Given the description of an element on the screen output the (x, y) to click on. 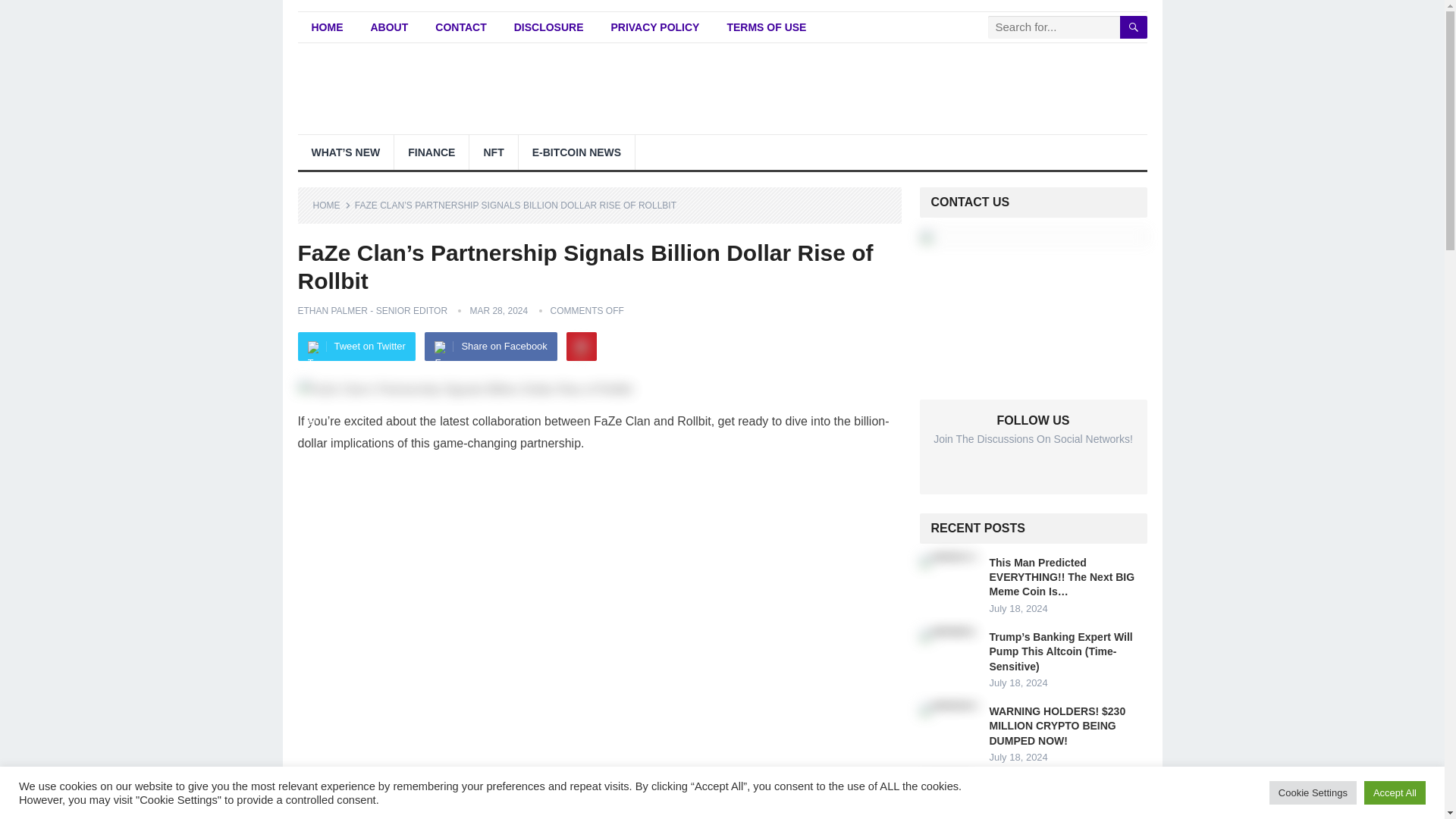
HOME (326, 27)
FINANCE (431, 152)
Share on Facebook (490, 346)
NFT (492, 152)
Posts by Ethan Palmer - Senior Editor (371, 310)
TERMS OF USE (766, 27)
E-BITCOIN NEWS (576, 152)
ABOUT (389, 27)
HOME (331, 204)
